Given the description of an element on the screen output the (x, y) to click on. 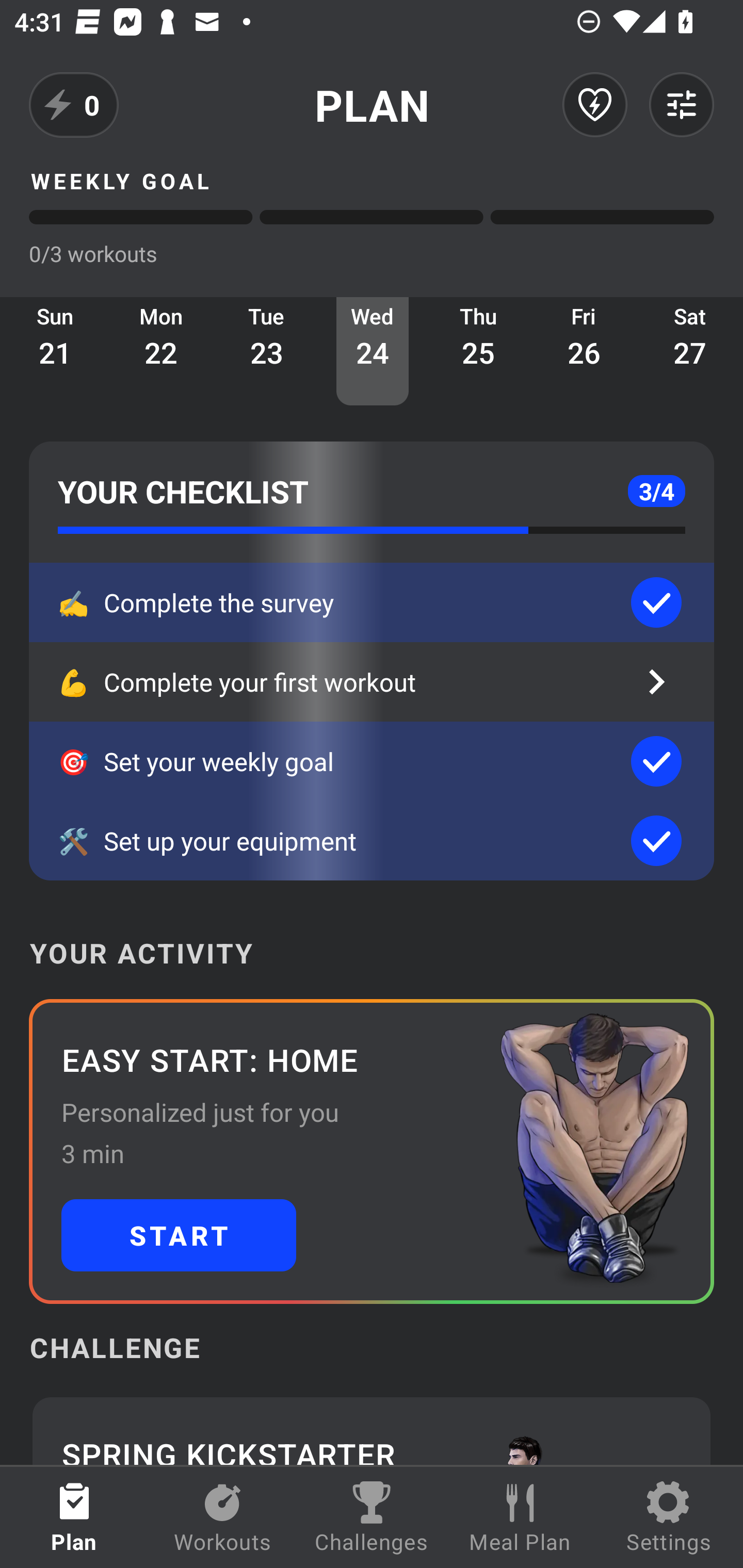
0 (73, 104)
Sun 21 (55, 351)
Mon 22 (160, 351)
Tue 23 (266, 351)
Wed 24 (372, 351)
Thu 25 (478, 351)
Fri 26 (584, 351)
Sat 27 (690, 351)
💪 Complete your first workout (371, 681)
START (178, 1235)
 Workouts  (222, 1517)
 Challenges  (371, 1517)
 Meal Plan  (519, 1517)
 Settings  (668, 1517)
